Given the description of an element on the screen output the (x, y) to click on. 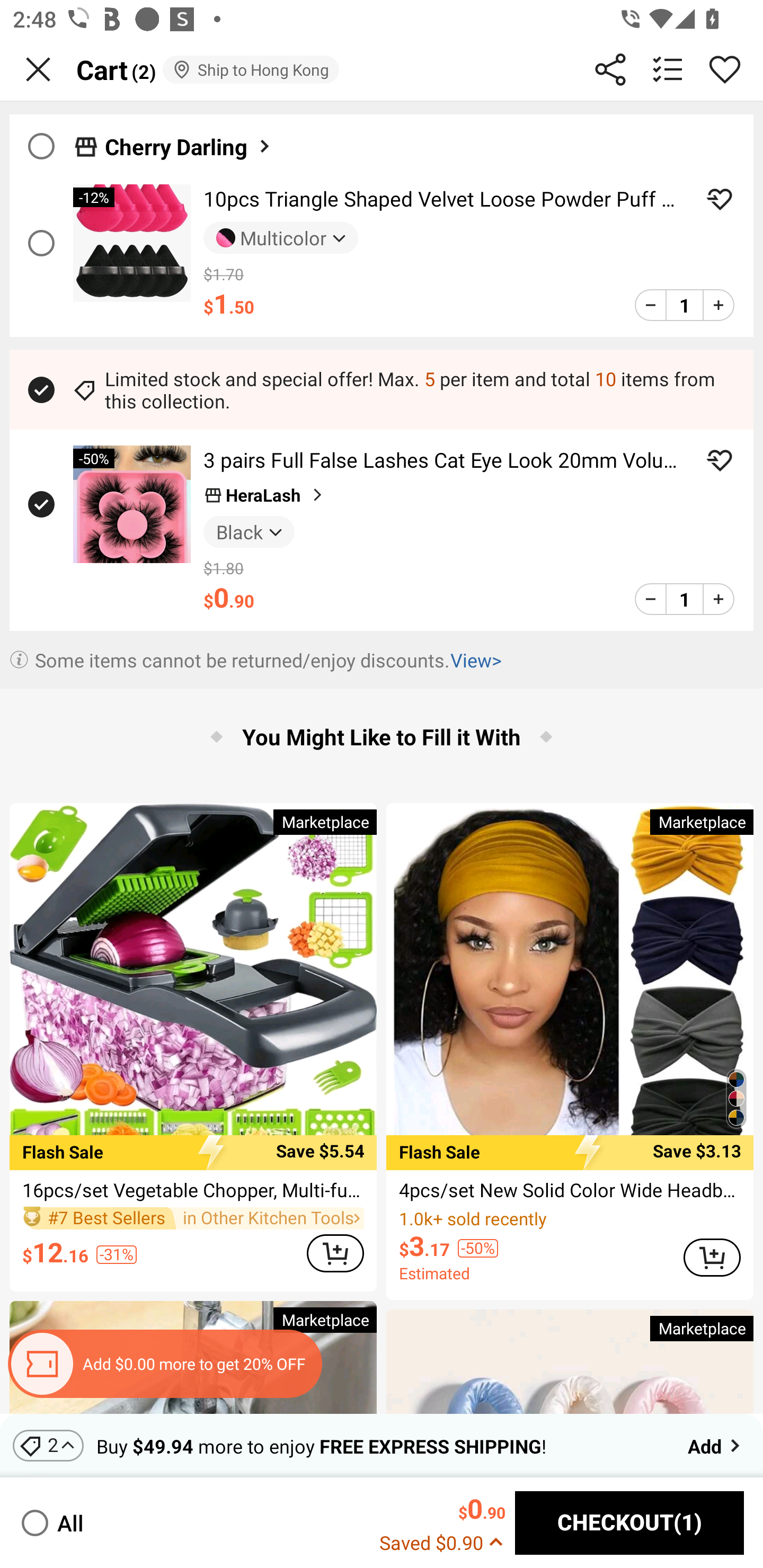
BACK (38, 68)
Wishlist (724, 68)
Share (610, 68)
batch delete (667, 68)
Ship to Hong Kong (250, 68)
Cherry Darling (381, 140)
Cherry Darling (189, 146)
ADD TO WISHLIST (719, 199)
 Multicolor (280, 238)
product quantity minus 1 (650, 304)
1 edit product quantity (684, 304)
product quantity add 1 (718, 304)
ADD TO WISHLIST (719, 460)
HeraLash (264, 494)
Black (248, 531)
product quantity minus 1 (650, 598)
1 edit product quantity (684, 598)
product quantity add 1 (718, 598)
#7 Best Sellers in Other Kitchen Tools (192, 1217)
ADD TO CART (334, 1252)
ADD TO CART (711, 1257)
Coupon Alert Add $0.00 more to get 20% OFF (164, 1363)
2 (48, 1445)
Add (715, 1445)
CHECKOUT(1) (629, 1523)
All (51, 1522)
